Given the description of an element on the screen output the (x, y) to click on. 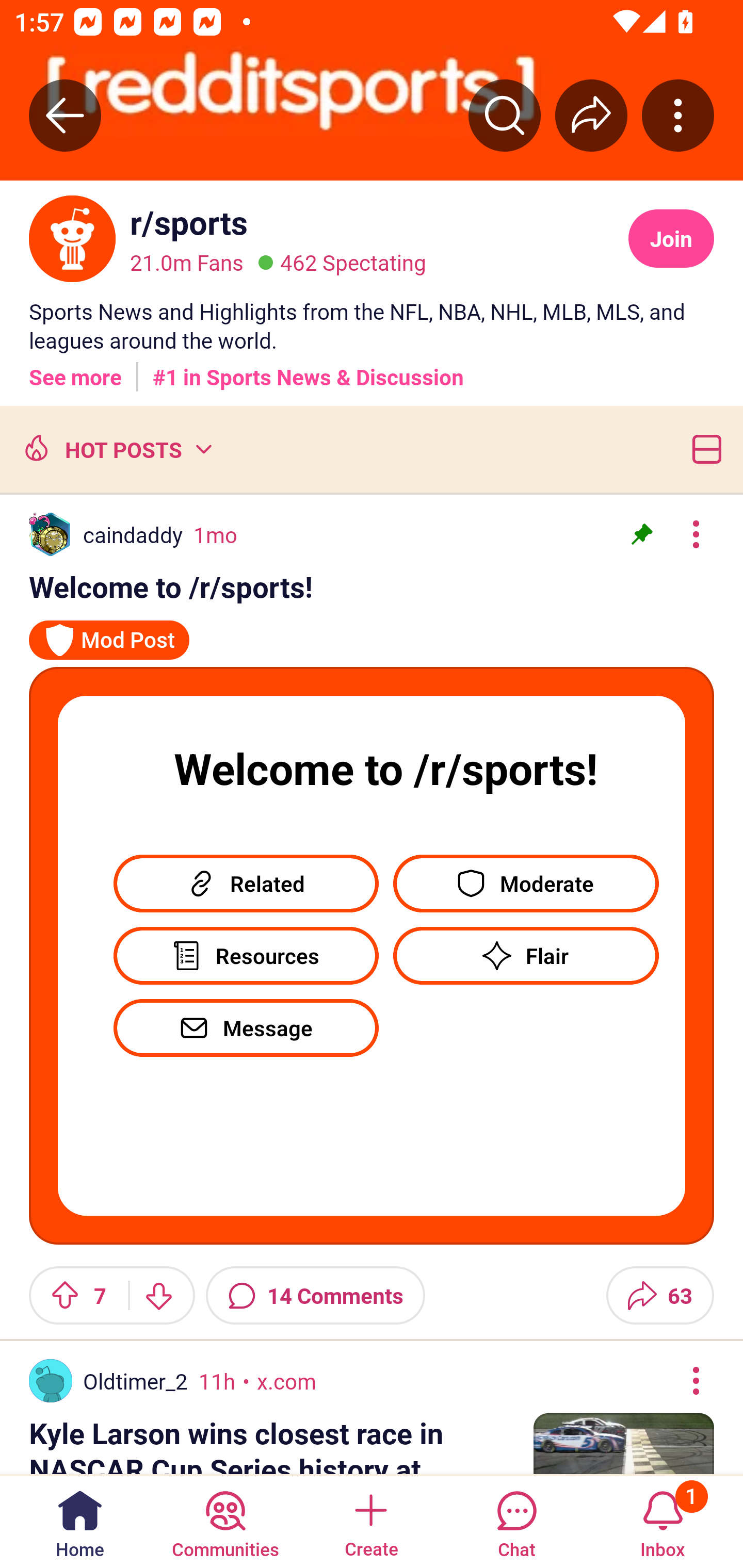
Back (64, 115)
Search r/﻿sports (504, 115)
Share r/﻿sports (591, 115)
More community actions (677, 115)
Hot posts HOT POSTS (116, 449)
Card (703, 449)
￼ Mod Post (108, 631)
link Related (245, 876)
mod Moderate (526, 876)
rules Resources (245, 948)
distinguish Flair (526, 955)
message Message (245, 1027)
Home (80, 1520)
Communities (225, 1520)
Create a post Create (370, 1520)
Chat (516, 1520)
Inbox, has 1 notification 1 Inbox (662, 1520)
